Given the description of an element on the screen output the (x, y) to click on. 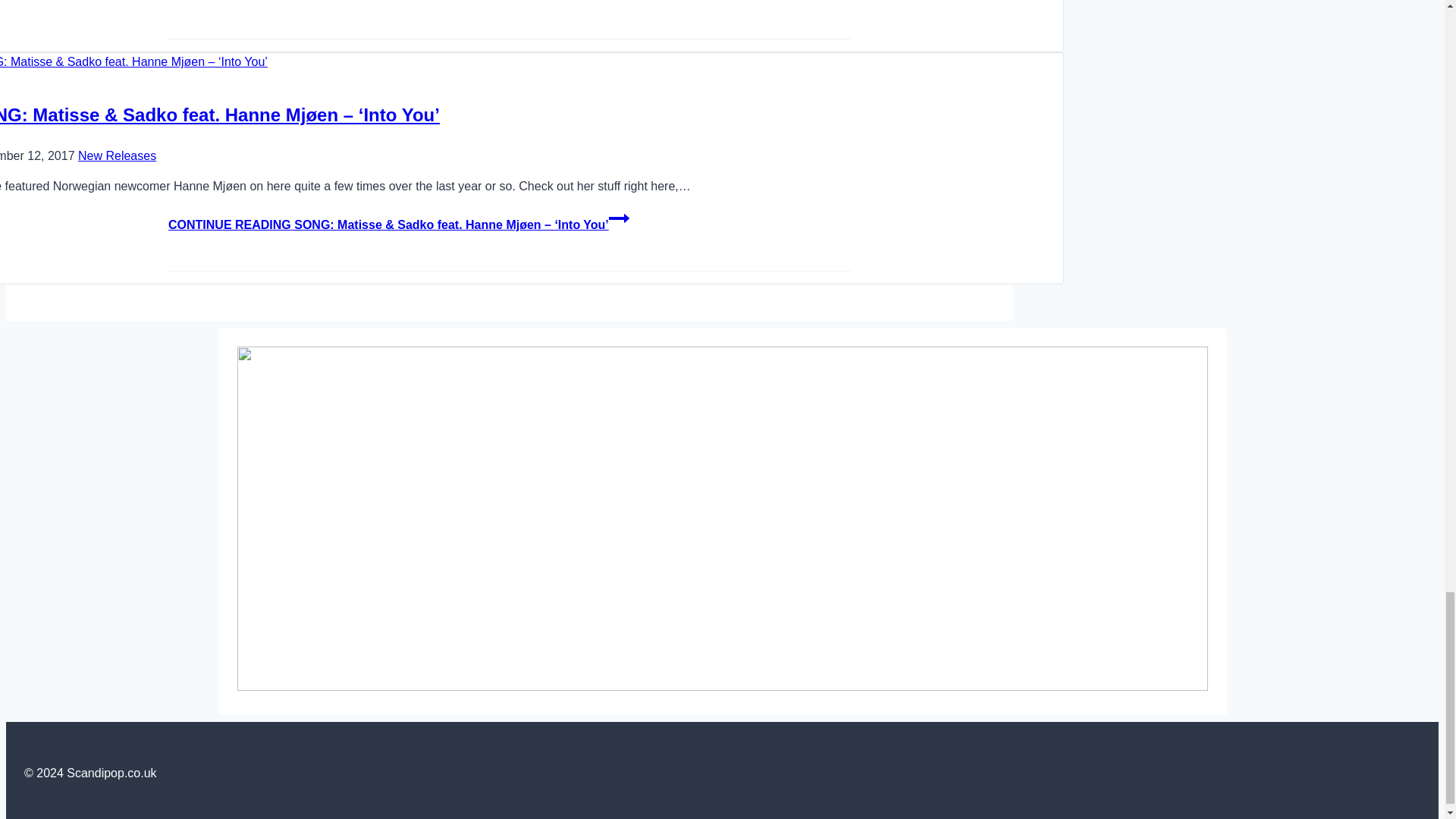
New Releases (116, 155)
